Given the description of an element on the screen output the (x, y) to click on. 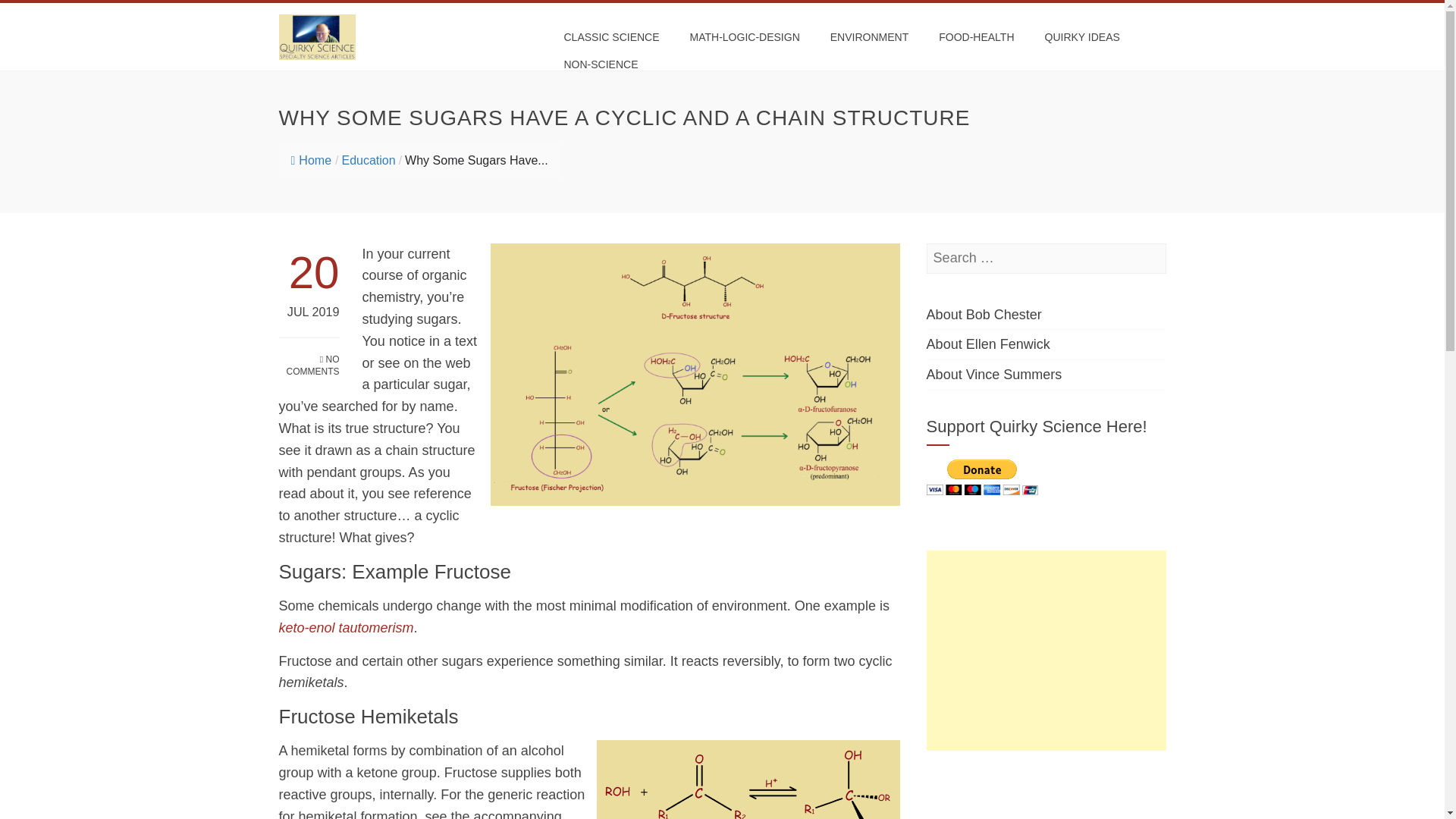
CLASSIC SCIENCE (610, 36)
PayPal - The safer, easier way to pay online! (982, 477)
NO COMMENTS (309, 358)
keto-enol tautomerism (346, 627)
About Bob Chester (984, 314)
Category Name (367, 160)
Home (311, 160)
QUIRKY IDEAS (1082, 36)
NON-SCIENCE (600, 63)
FOOD-HEALTH (976, 36)
About Vince Summers (994, 374)
Why Some Sugars Have a Cyclic and a Chain Structure (476, 160)
Advertisement (1046, 790)
Search (37, 15)
MATH-LOGIC-DESIGN (744, 36)
